Given the description of an element on the screen output the (x, y) to click on. 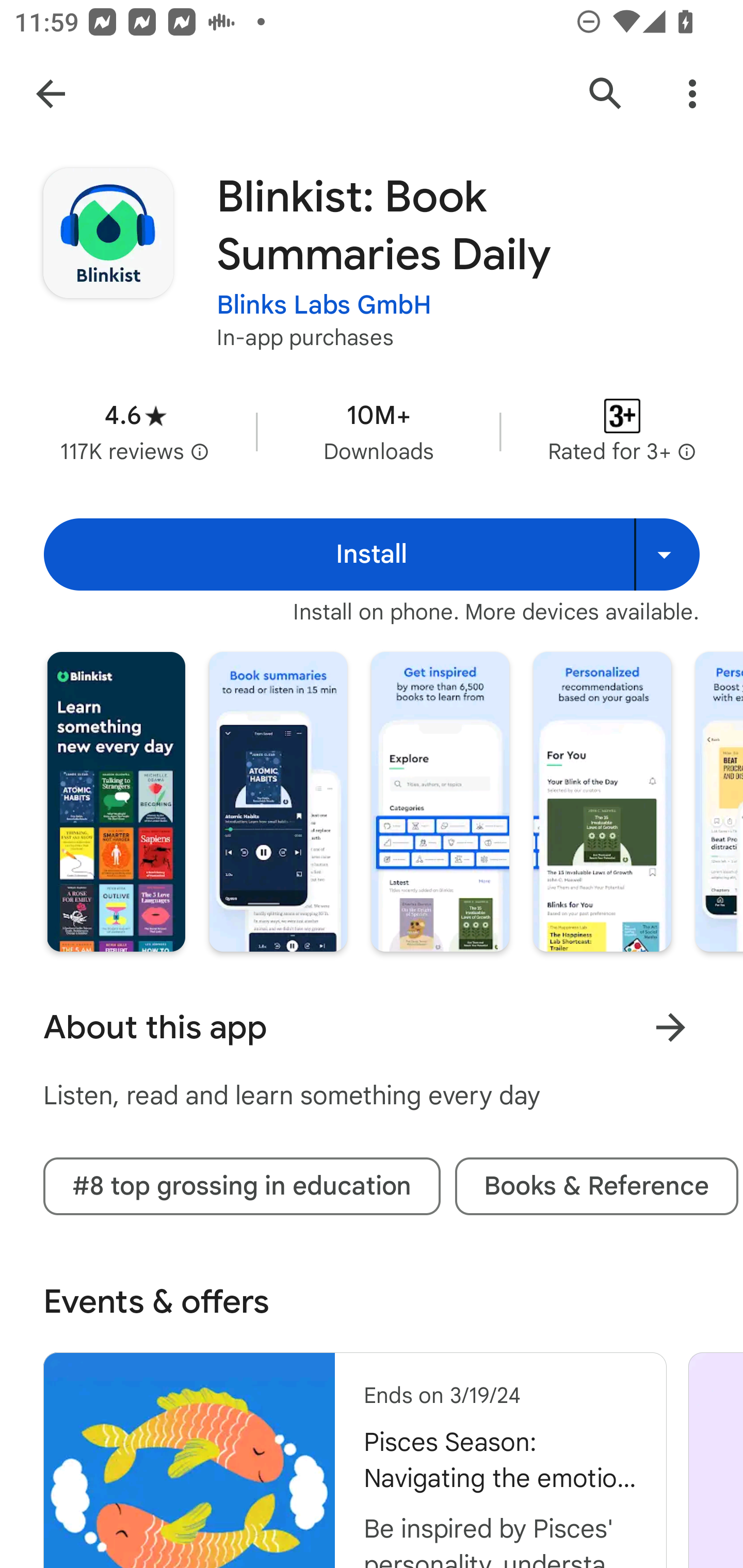
Navigate up (50, 93)
Search Google Play (605, 93)
More Options (692, 93)
Blinks Labs GmbH (323, 304)
Average rating 4.6 stars in 117 thousand reviews (135, 431)
Content rating Rated for 3+ (622, 431)
Install Install Install on more devices (371, 554)
Install on more devices (667, 554)
Screenshot "1" of "8" (115, 801)
Screenshot "2" of "8" (277, 801)
Screenshot "3" of "8" (439, 801)
Screenshot "4" of "8" (601, 801)
About this app Learn more About this app (371, 1027)
Learn more About this app (670, 1027)
#8 top grossing in education tag (241, 1186)
Books & Reference tag (596, 1186)
